Given the description of an element on the screen output the (x, y) to click on. 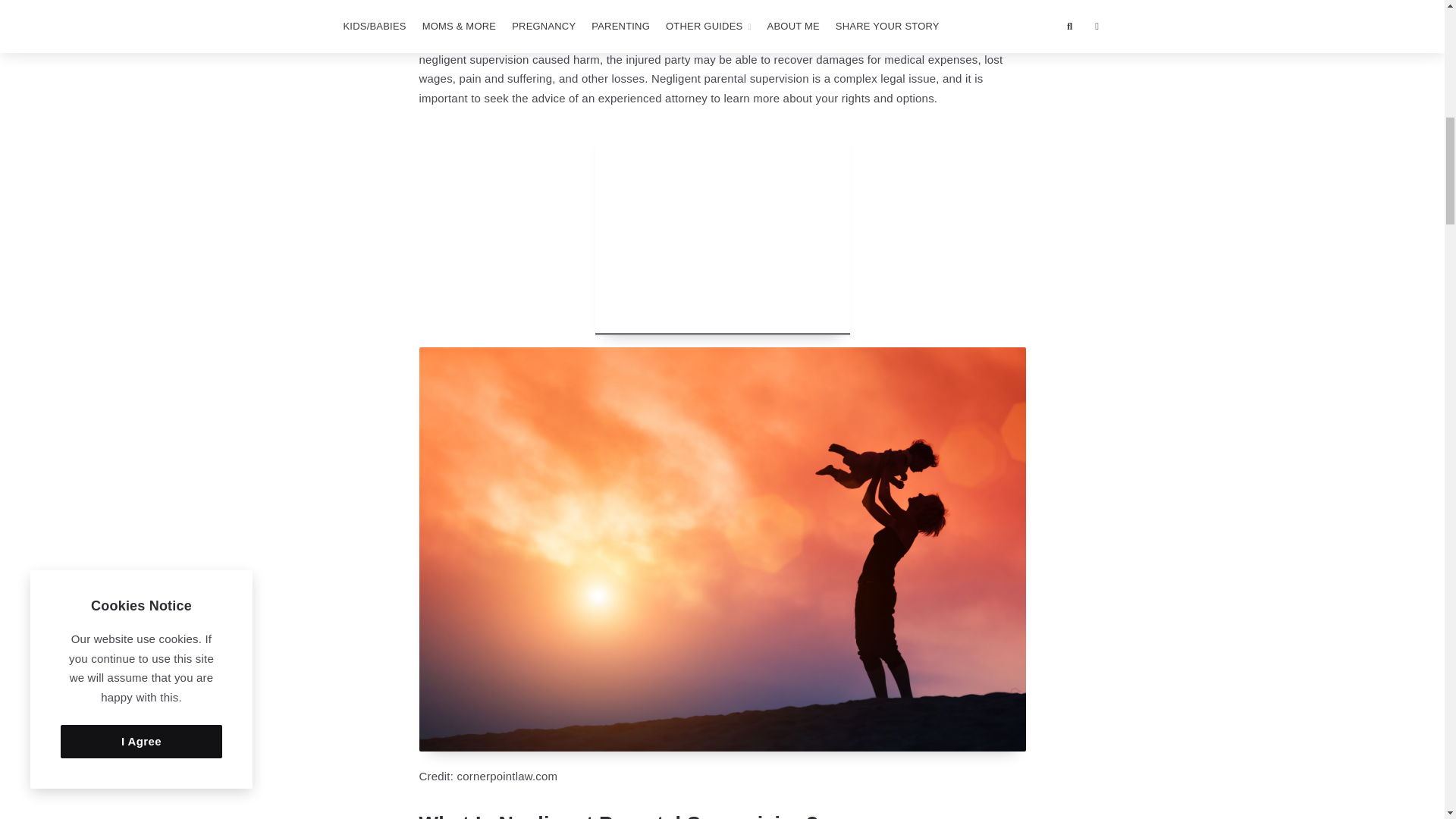
Advertisement (721, 228)
